Given the description of an element on the screen output the (x, y) to click on. 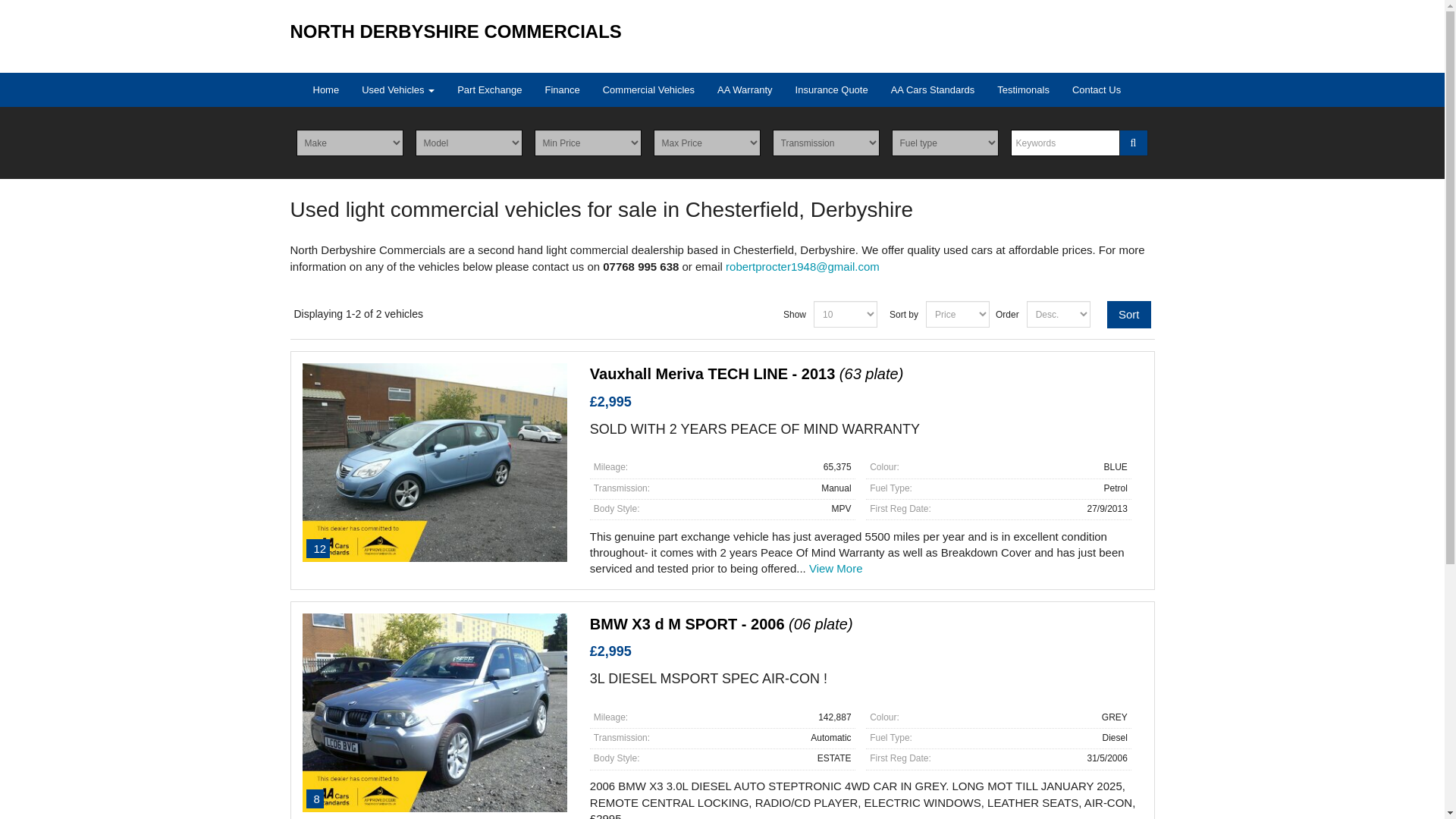
Part Exchange (488, 89)
View More (836, 567)
Used Vehicles (397, 89)
AA Cars Standards (933, 89)
Contact Us (1096, 89)
Testimonals (1023, 89)
AA Warranty (744, 89)
AA Cars Standards (933, 89)
Part Exchange (488, 89)
12 (433, 462)
